Given the description of an element on the screen output the (x, y) to click on. 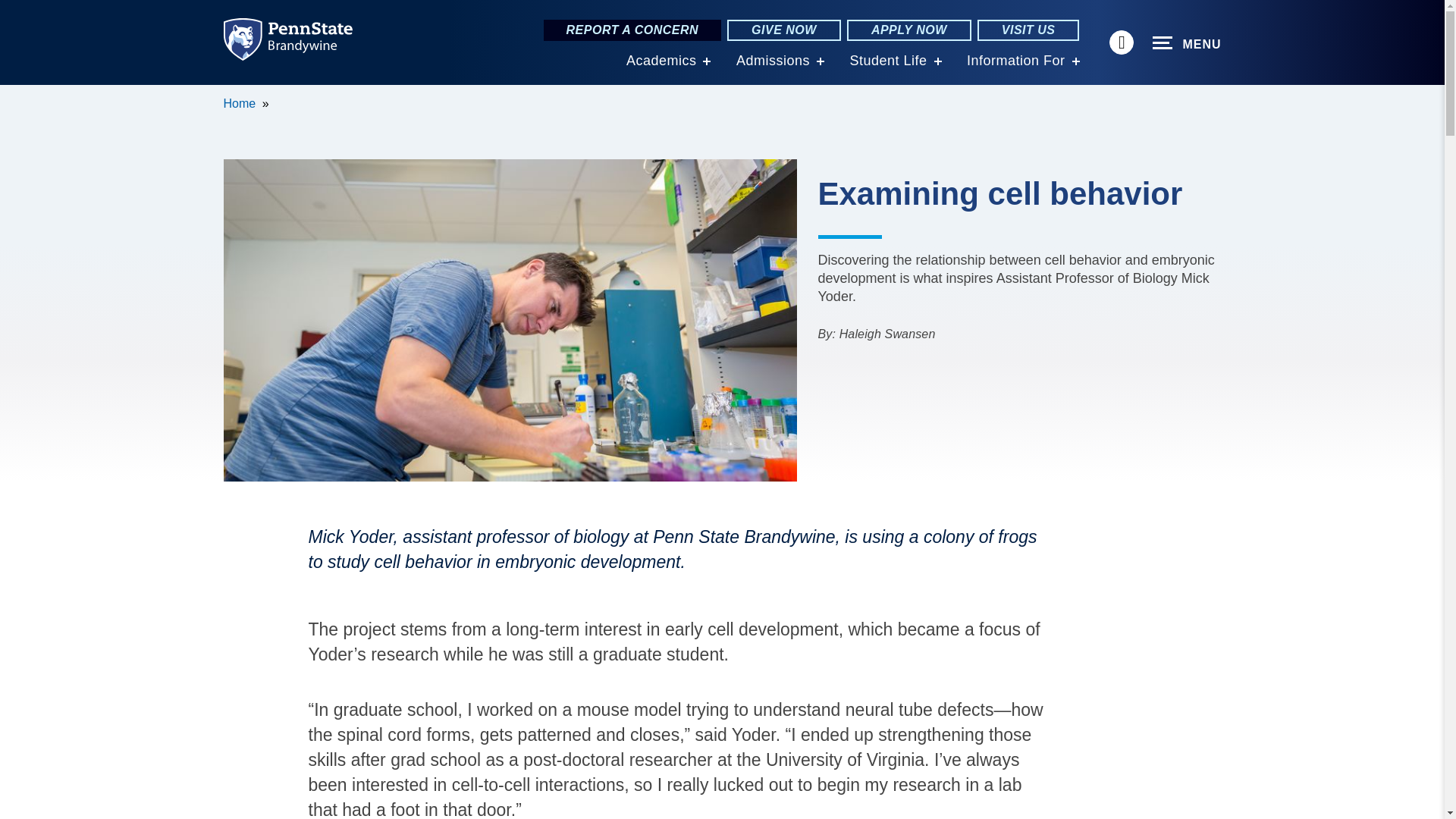
SKIP TO MAIN CONTENT (19, 95)
MENU (1187, 43)
Academics (661, 60)
Student Life (887, 60)
VISIT US (1028, 29)
Admissions (772, 60)
Admissions (772, 60)
Academics (661, 60)
REPORT A CONCERN (632, 29)
APPLY NOW (909, 29)
